Given the description of an element on the screen output the (x, y) to click on. 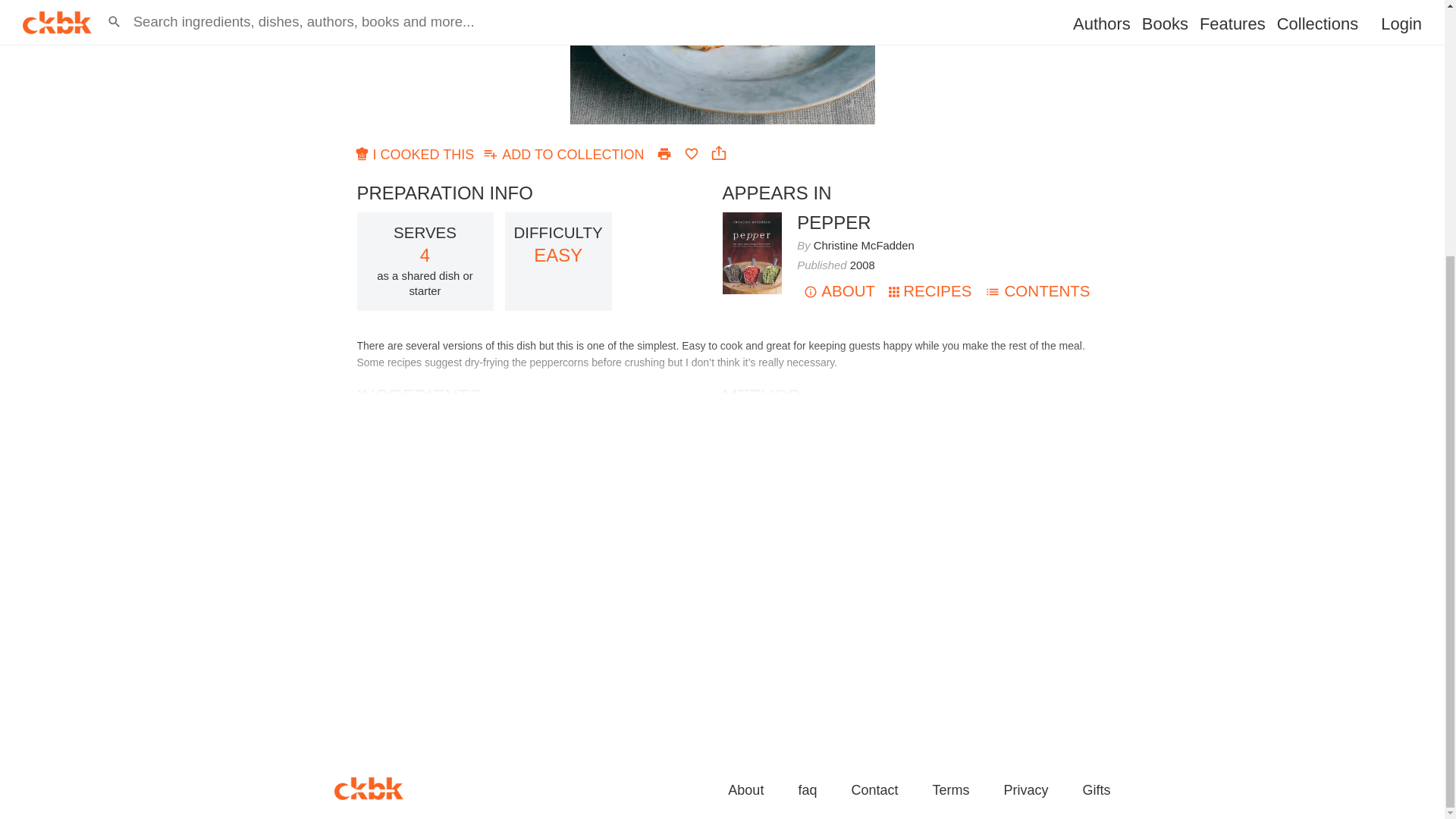
CONTENTS (1037, 290)
About this book (833, 222)
Terms (950, 790)
Print (664, 153)
About (745, 790)
faq (806, 790)
Gifts (1095, 790)
Recipes in this book (930, 290)
I COOKED THIS (415, 153)
PEPPER (833, 222)
Privacy (564, 153)
ABOUT (1025, 790)
About this book (839, 290)
Contact (751, 218)
